Given the description of an element on the screen output the (x, y) to click on. 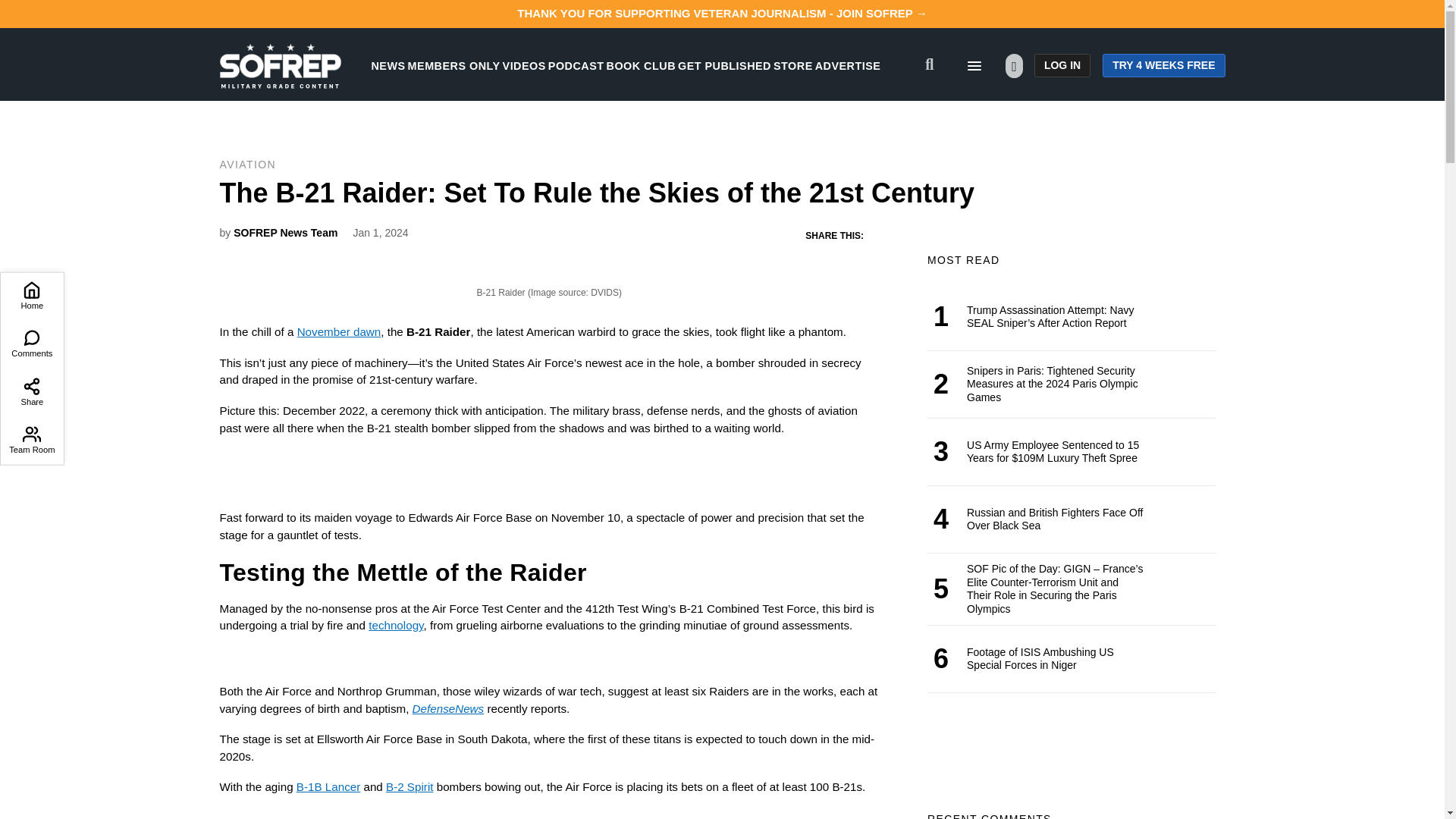
VIDEOS (524, 65)
BOOK CLUB (641, 65)
STORE (792, 65)
NEWS (388, 65)
TRY 4 WEEKS FREE (1163, 65)
PODCAST (576, 65)
MEMBERS ONLY (453, 65)
ADVERTISE (847, 65)
GET PUBLISHED (724, 65)
LOG IN (1061, 65)
